Given the description of an element on the screen output the (x, y) to click on. 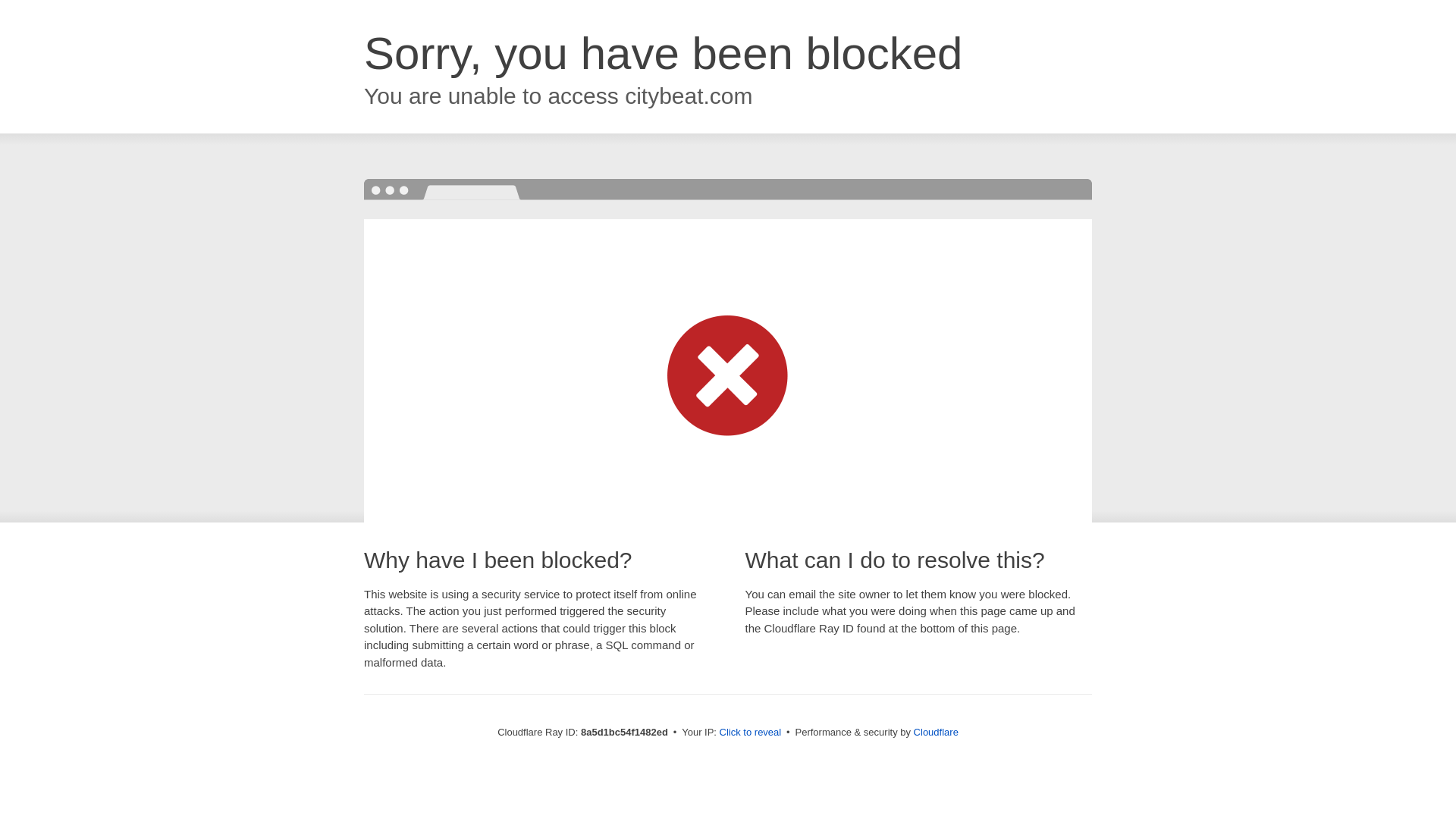
Cloudflare (936, 731)
Click to reveal (750, 732)
